Given the description of an element on the screen output the (x, y) to click on. 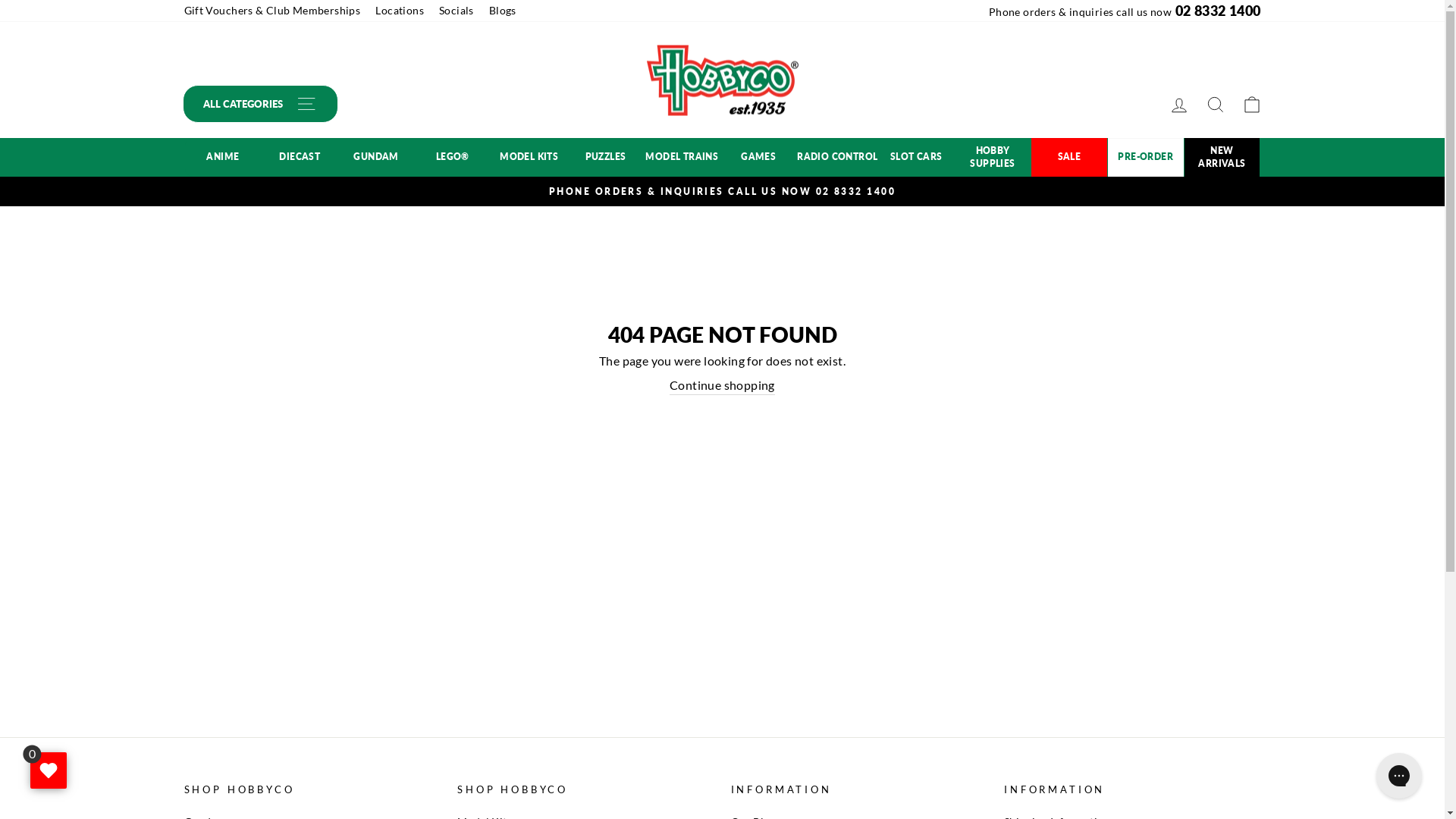
Gift Vouchers & Club Memberships Element type: text (271, 10)
CART Element type: text (1251, 104)
NEW
ARRIVALS Element type: text (1221, 157)
ANIME Element type: text (223, 157)
02 8332 1400 Element type: text (855, 191)
Gorgias live chat messenger Element type: hover (1398, 775)
02 8332 1400 Element type: text (1218, 10)
MODEL TRAINS Element type: text (681, 157)
PRE-ORDER Element type: text (1145, 157)
Socials Element type: text (456, 10)
LOG IN Element type: text (1178, 104)
DIECAST Element type: text (298, 157)
Locations Element type: text (399, 10)
SLOT CARS Element type: text (915, 157)
RADIO CONTROL Element type: text (836, 157)
0 Element type: text (48, 770)
SALE Element type: text (1068, 157)
GUNDAM Element type: text (375, 157)
ALL CATEGORIES
SITE NAVIGATION Element type: text (259, 103)
HOBBY
SUPPLIES Element type: text (991, 157)
PUZZLES Element type: text (605, 157)
Skip to content Element type: text (0, 0)
Continue shopping Element type: text (722, 385)
Blogs Element type: text (502, 10)
MODEL KITS Element type: text (528, 157)
GAMES Element type: text (757, 157)
SEARCH Element type: text (1214, 104)
